Given the description of an element on the screen output the (x, y) to click on. 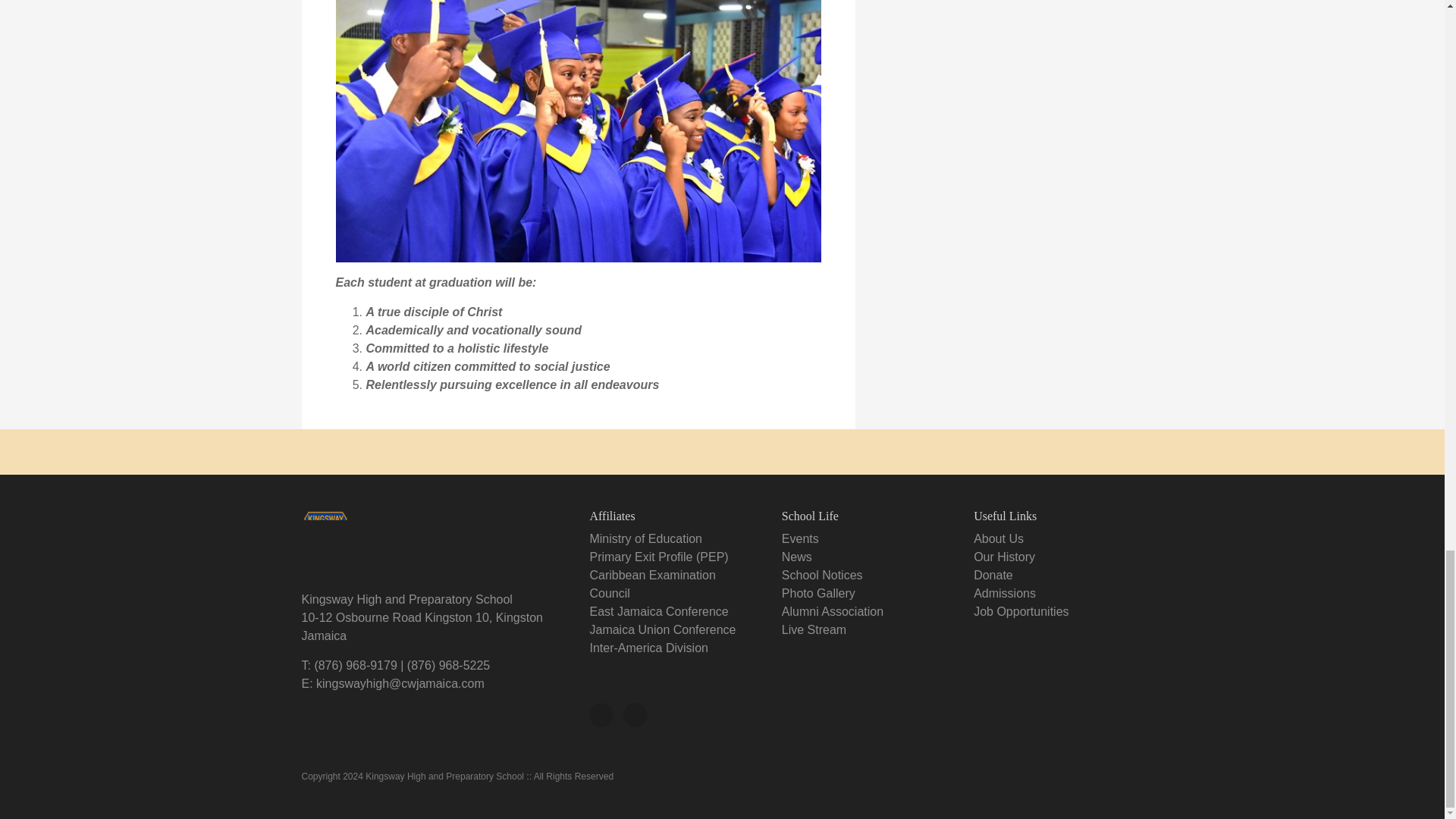
Inter-America Division (648, 647)
Jamaica Union Conference (662, 629)
East Jamaica Conference (658, 611)
Ministry of Education (645, 538)
Caribbean Examination Council (651, 583)
Events (799, 538)
